Given the description of an element on the screen output the (x, y) to click on. 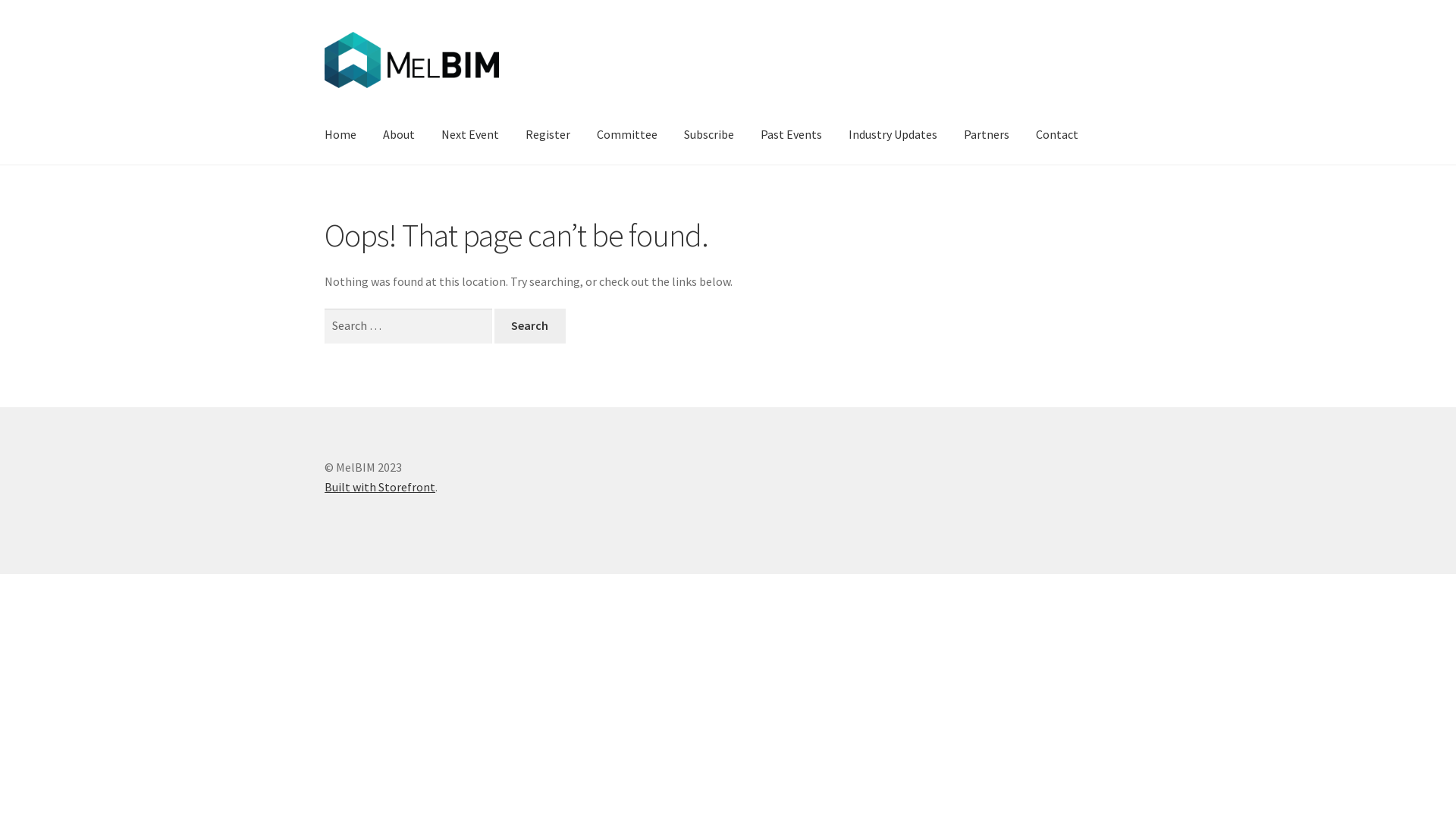
Subscribe Element type: text (708, 134)
Industry Updates Element type: text (892, 134)
Home Element type: text (340, 134)
Next Event Element type: text (470, 134)
Committee Element type: text (626, 134)
Partners Element type: text (986, 134)
Skip to navigation Element type: text (323, 31)
Search Element type: text (529, 325)
Past Events Element type: text (791, 134)
Contact Element type: text (1056, 134)
Built with Storefront Element type: text (379, 486)
Register Element type: text (547, 134)
About Element type: text (398, 134)
